Given the description of an element on the screen output the (x, y) to click on. 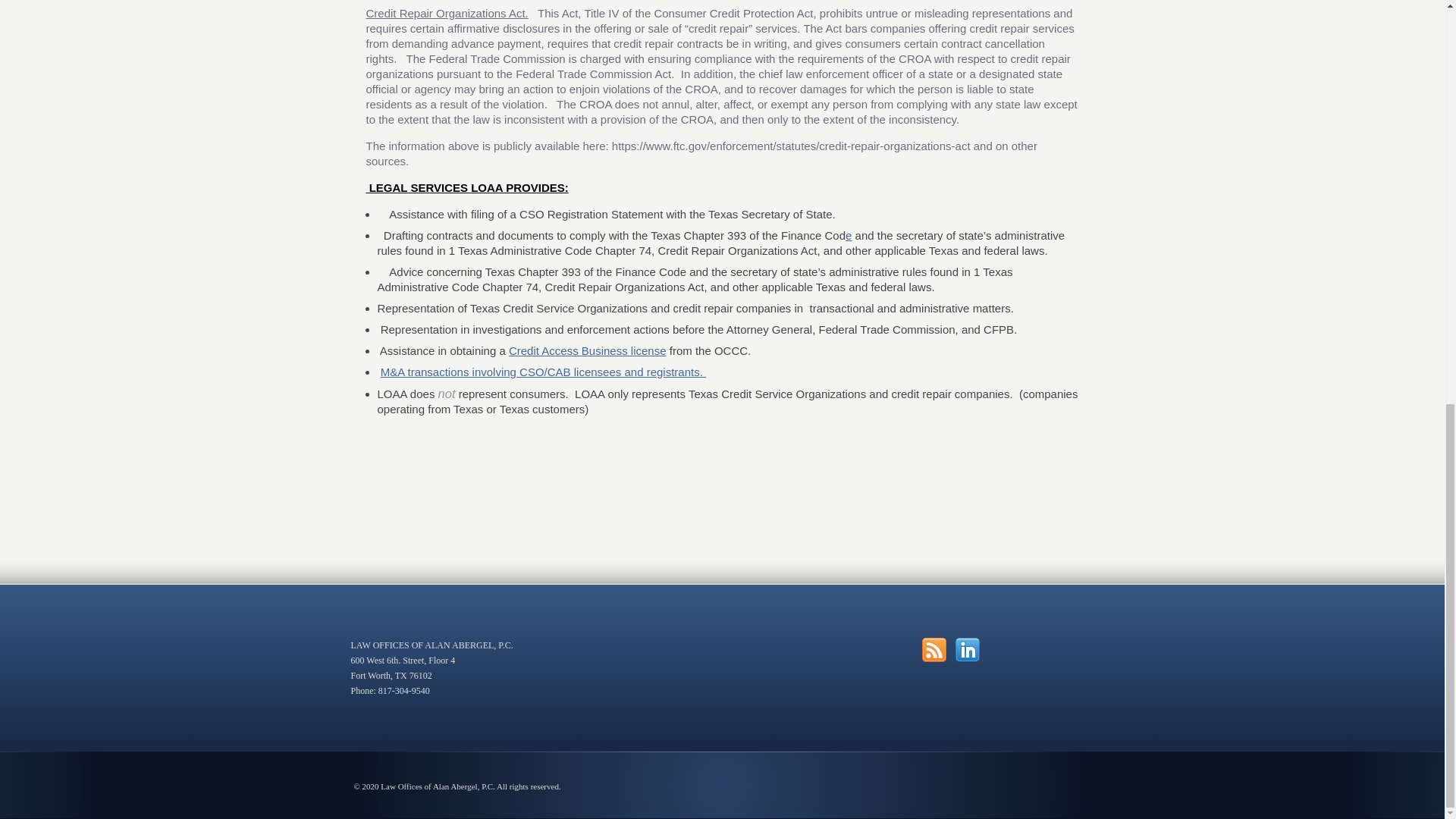
Credit Access Business license (587, 350)
LinkedIn (967, 649)
RSS (933, 649)
e (848, 235)
RSS Feed (933, 649)
LinkedIn (967, 649)
